Given the description of an element on the screen output the (x, y) to click on. 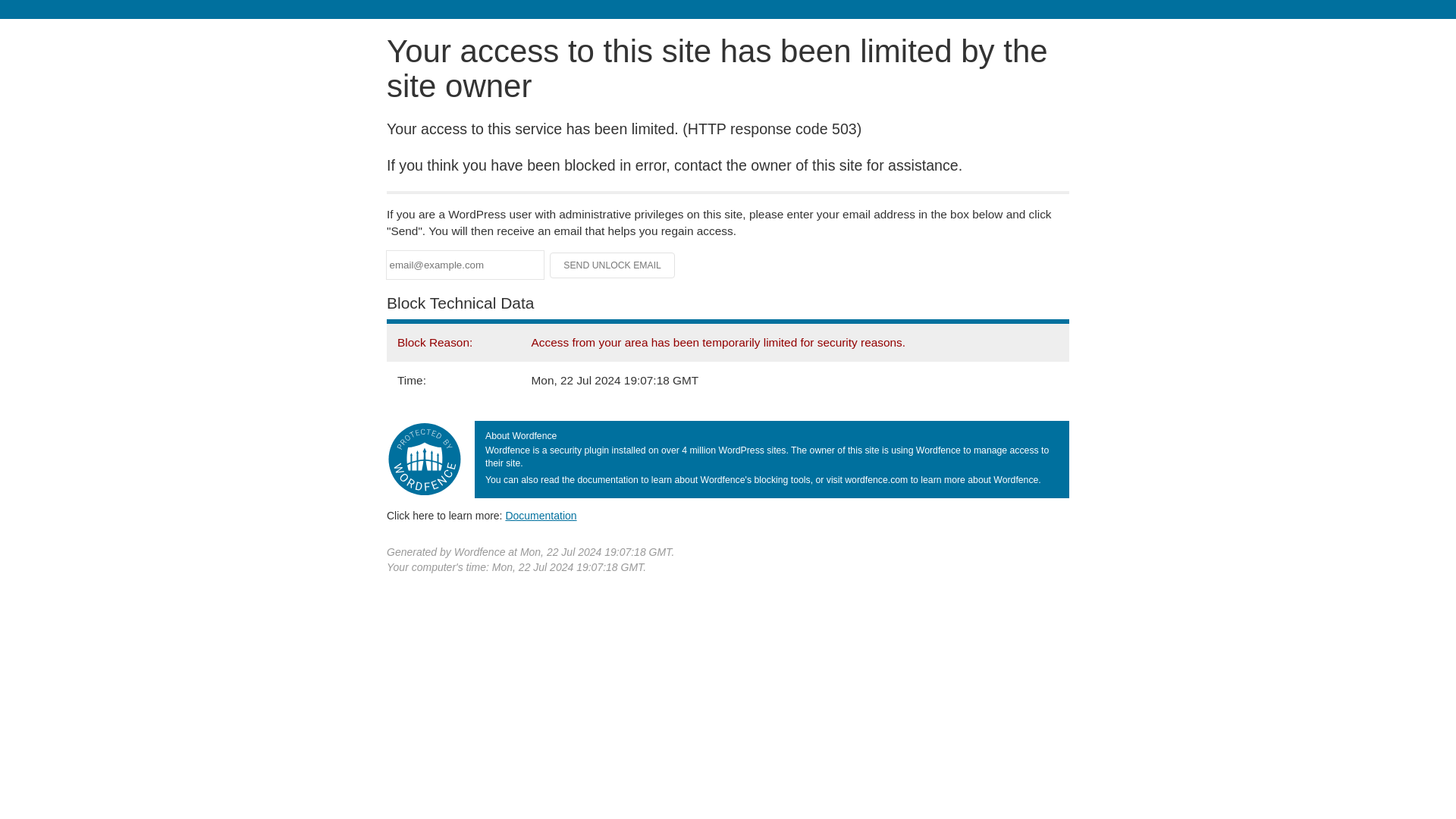
Send Unlock Email (612, 265)
Send Unlock Email (612, 265)
Documentation (540, 515)
